Given the description of an element on the screen output the (x, y) to click on. 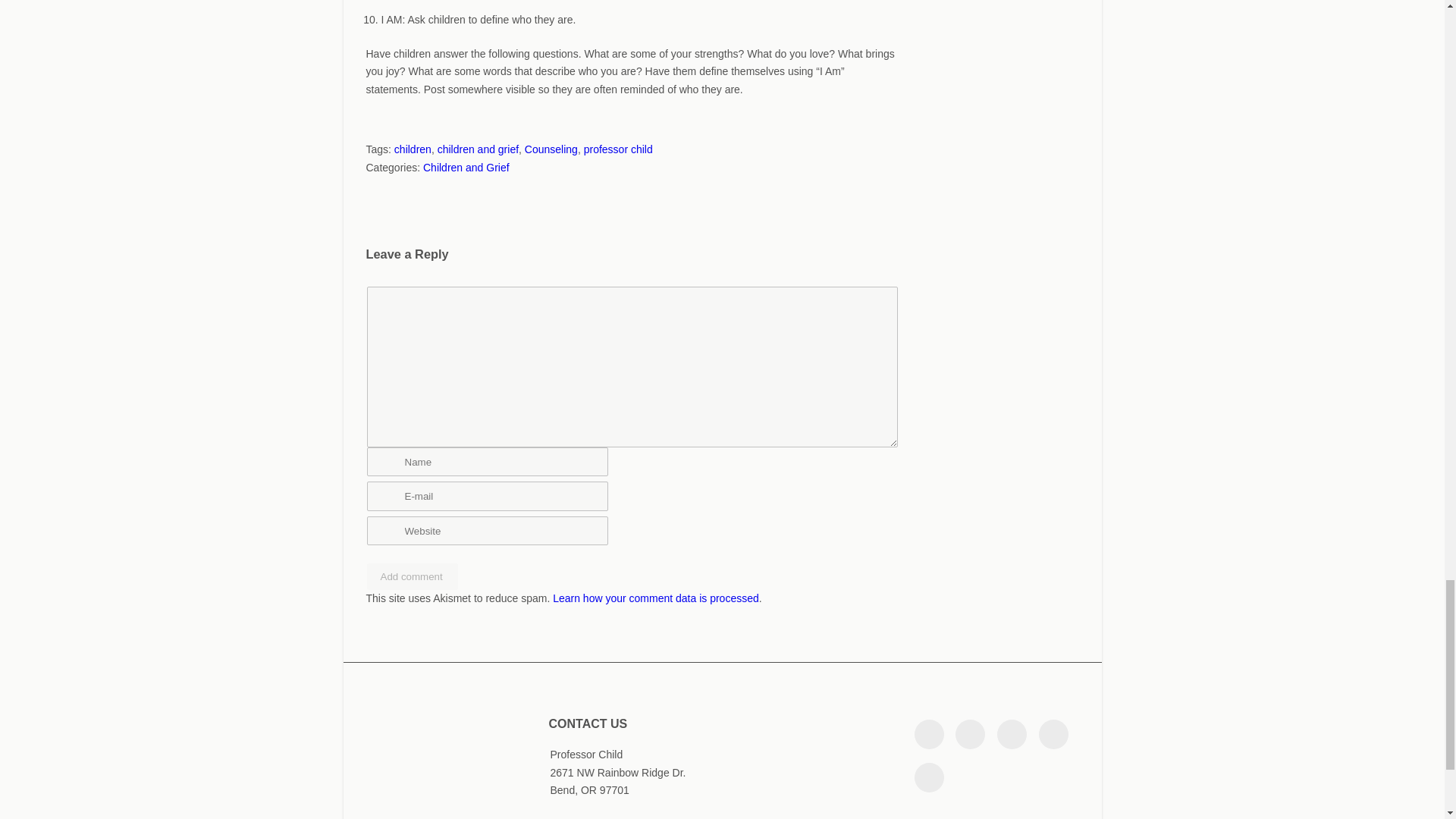
professor child (617, 149)
Children and Grief (466, 167)
Add comment (412, 576)
Counseling (551, 149)
children and grief (478, 149)
Add comment (412, 576)
Learn how your comment data is processed (655, 598)
children (412, 149)
